Given the description of an element on the screen output the (x, y) to click on. 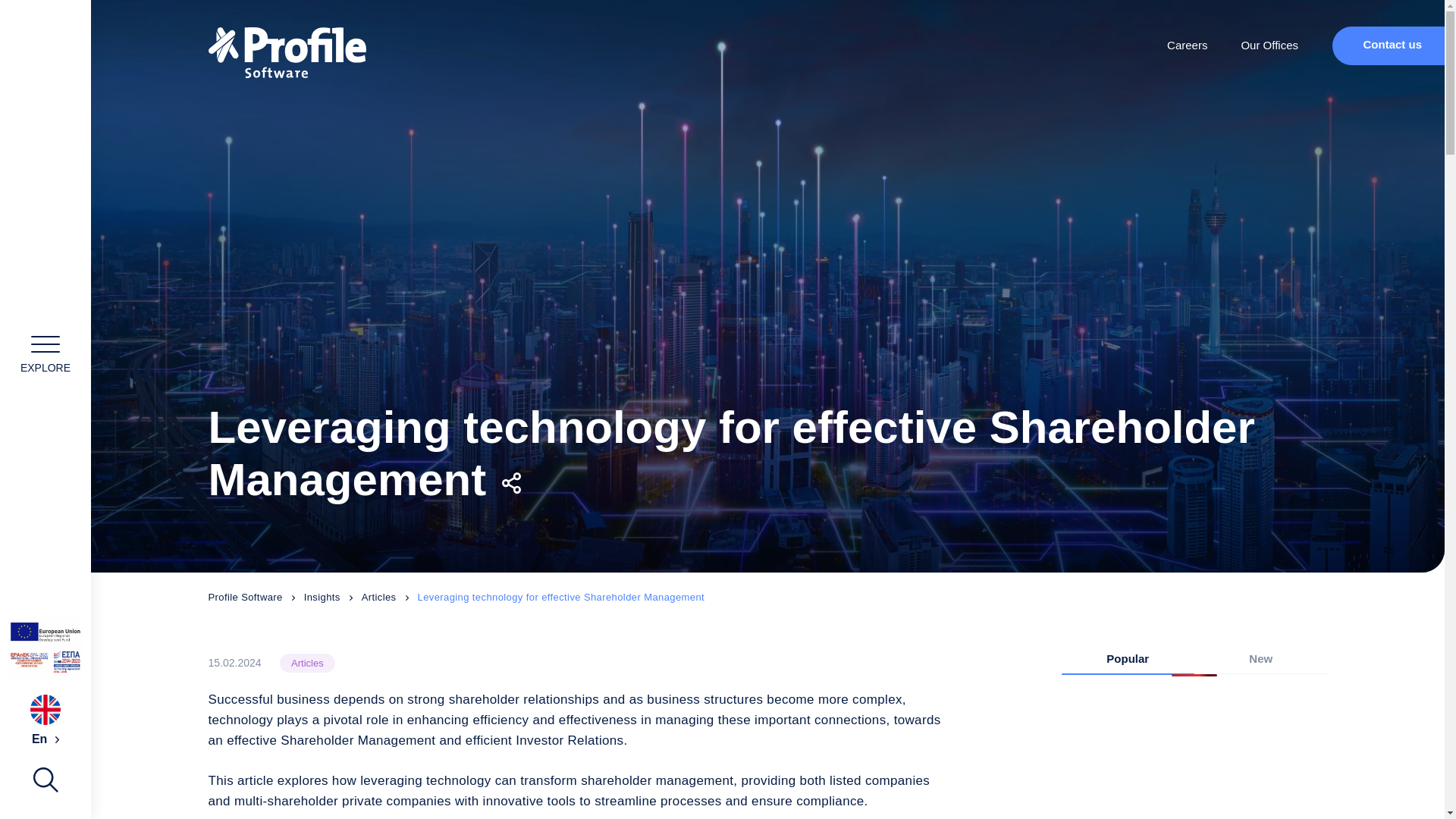
EXPLORE (45, 352)
Insights (332, 597)
Profile Software (255, 597)
Go to Insights. (332, 597)
Our Offices (1268, 45)
Go to the Articles Insight Categories archives. (389, 597)
Articles (389, 597)
Articles (306, 662)
Go to Profile Software. (255, 597)
Careers (1187, 45)
